Given the description of an element on the screen output the (x, y) to click on. 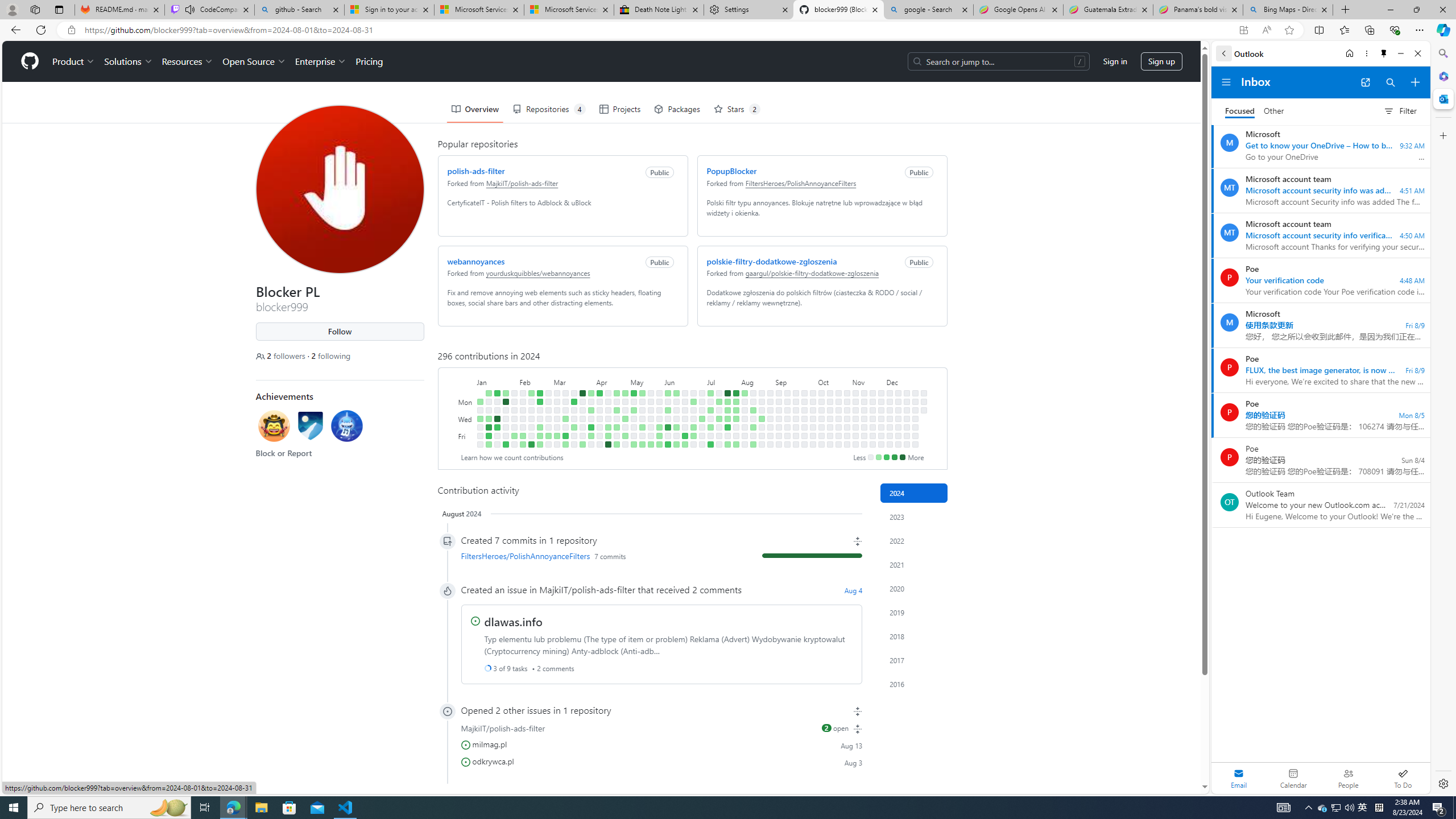
Contribution activity in 2020 (913, 588)
Achievement: Pull Shark (346, 427)
No contributions on April 30th. (624, 410)
8 contributions on February 17th. (530, 444)
No contributions on August 18th. (761, 392)
No contributions on April 6th. (591, 444)
No contributions on May 15th. (642, 418)
No contributions on April 29th. (624, 401)
No contributions on October 29th. (846, 410)
2 contributions on July 9th. (710, 410)
Achievement: Arctic Code Vault Contributor (310, 427)
No contributions on December 25th. (914, 418)
